Given the description of an element on the screen output the (x, y) to click on. 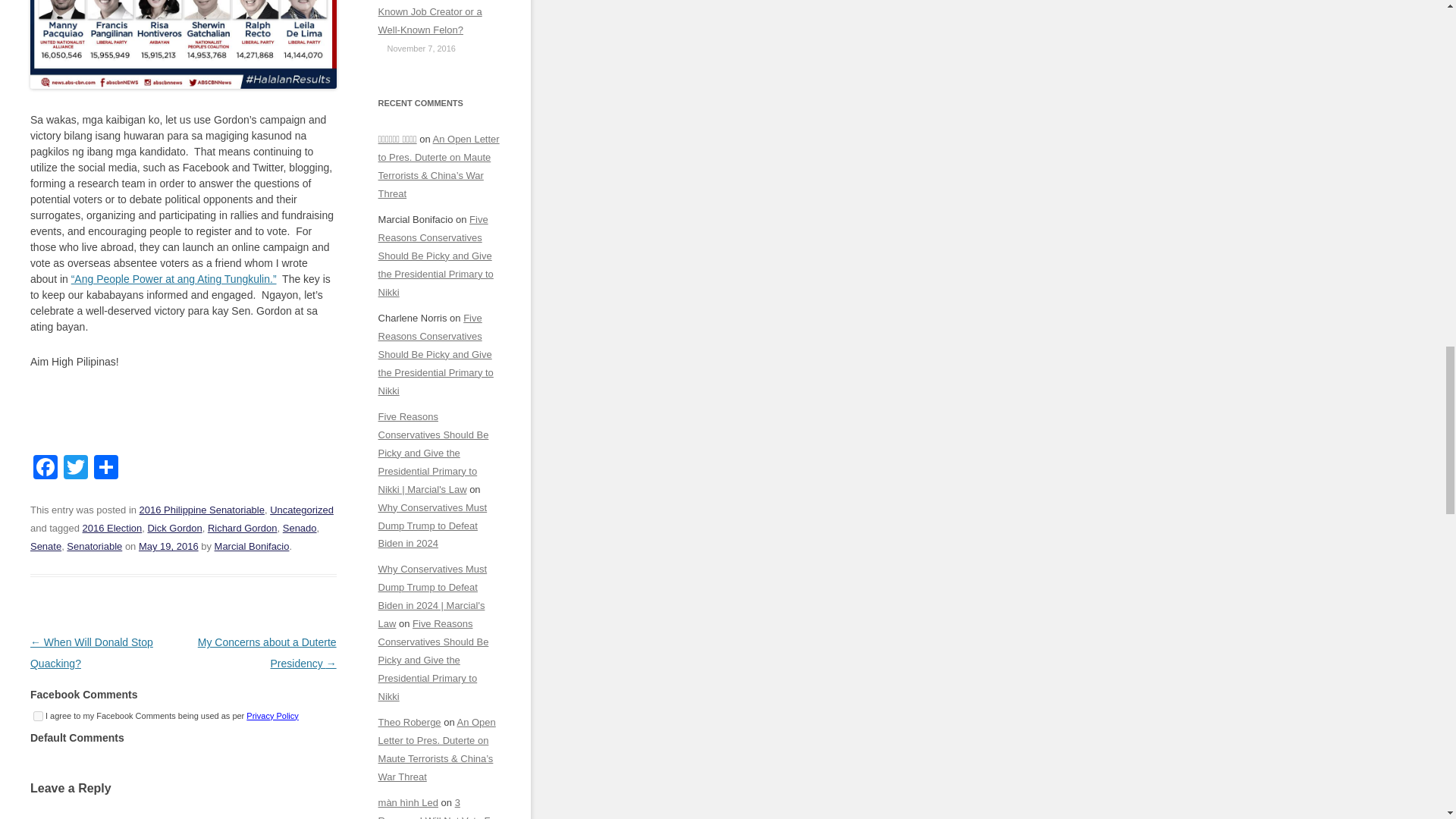
Uncategorized (301, 509)
Privacy Policy (272, 715)
Senado (299, 527)
Marcial Bonifacio (251, 546)
Facebook (45, 469)
2016 Philippine Senatoriable (201, 509)
2016 Election (112, 527)
Twitter (75, 469)
Senate (45, 546)
Facebook (45, 469)
